Given the description of an element on the screen output the (x, y) to click on. 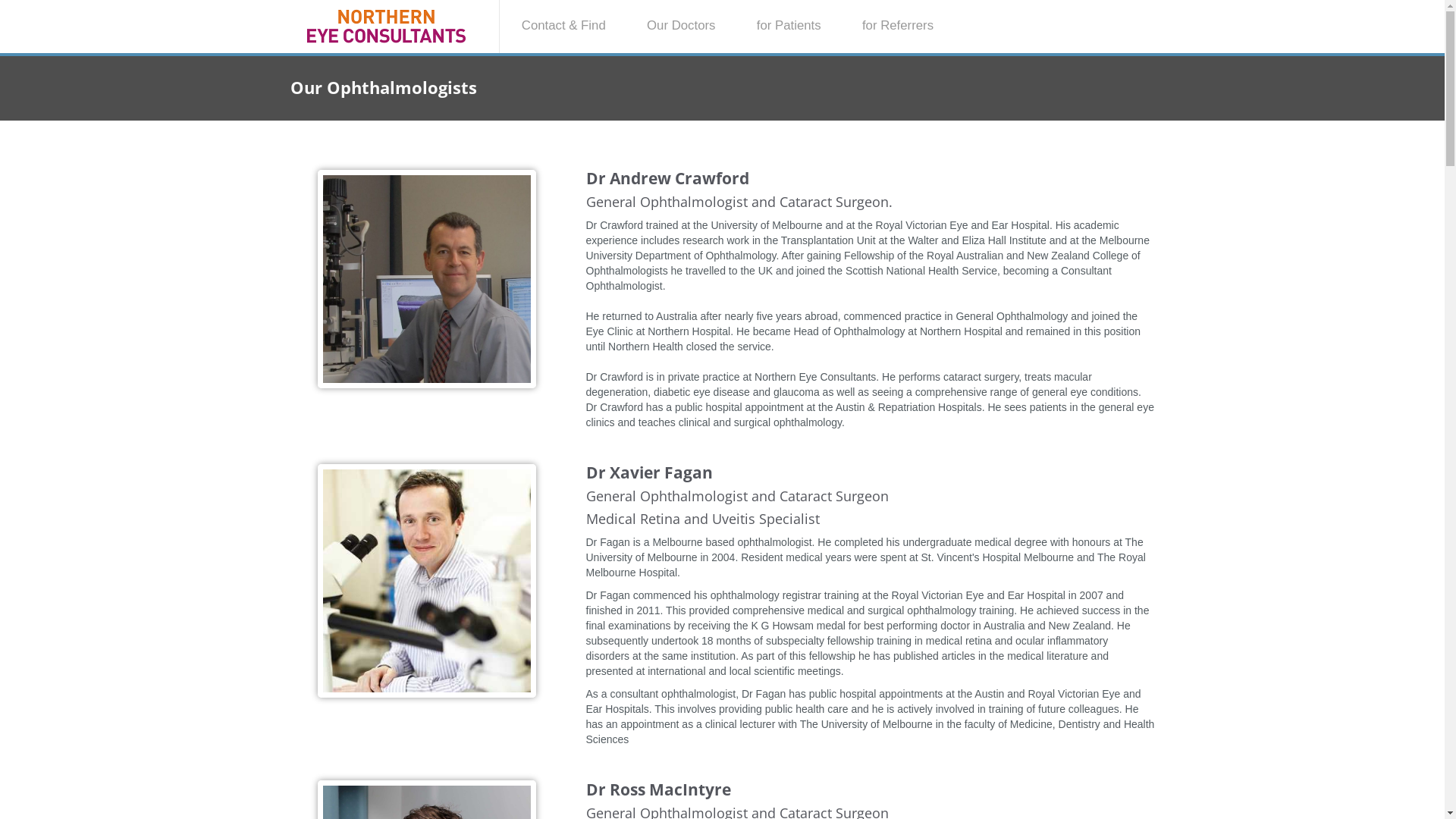
for Referrers Element type: text (898, 25)
Contact & Find Element type: text (563, 25)
for Patients Element type: text (788, 25)
Our Doctors Element type: text (680, 25)
